Given the description of an element on the screen output the (x, y) to click on. 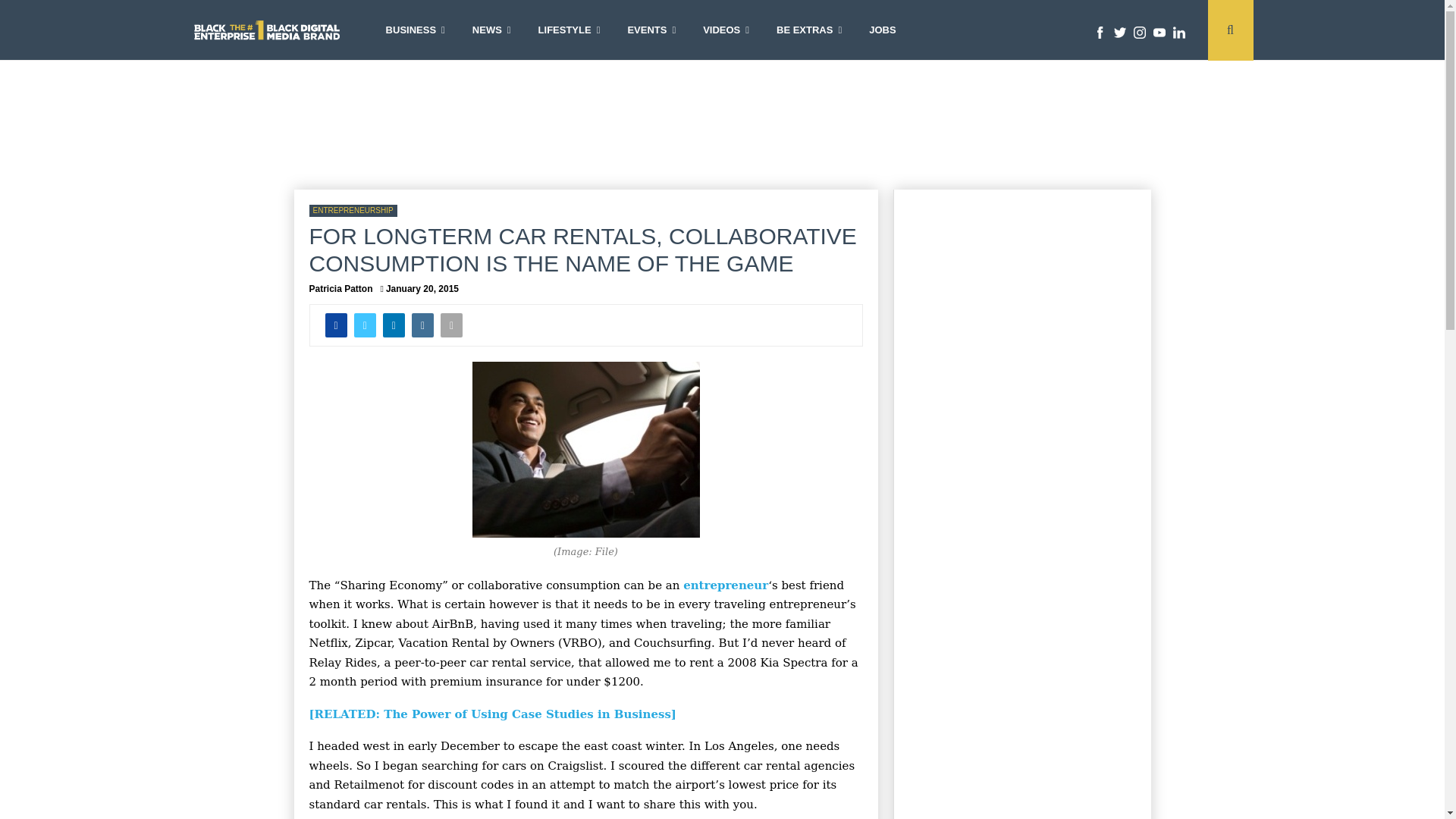
LIFESTYLE (569, 30)
BUSINESS (415, 30)
EVENTS (650, 30)
NEWS (491, 30)
Posts by Patricia Patton (340, 288)
